Given the description of an element on the screen output the (x, y) to click on. 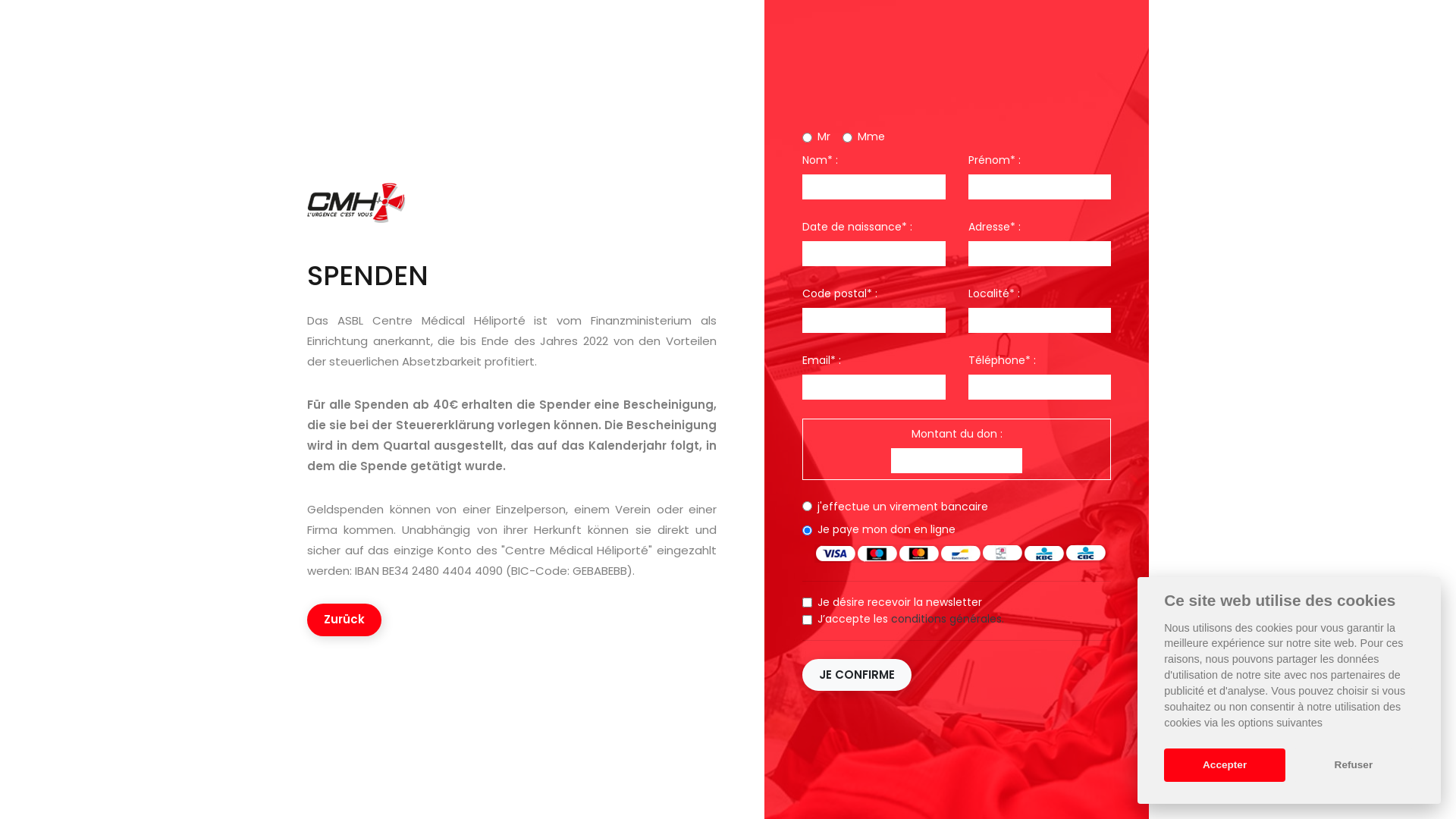
Accepter Element type: text (1224, 764)
JE CONFIRME Element type: text (856, 674)
Refuser Element type: text (1353, 764)
